Given the description of an element on the screen output the (x, y) to click on. 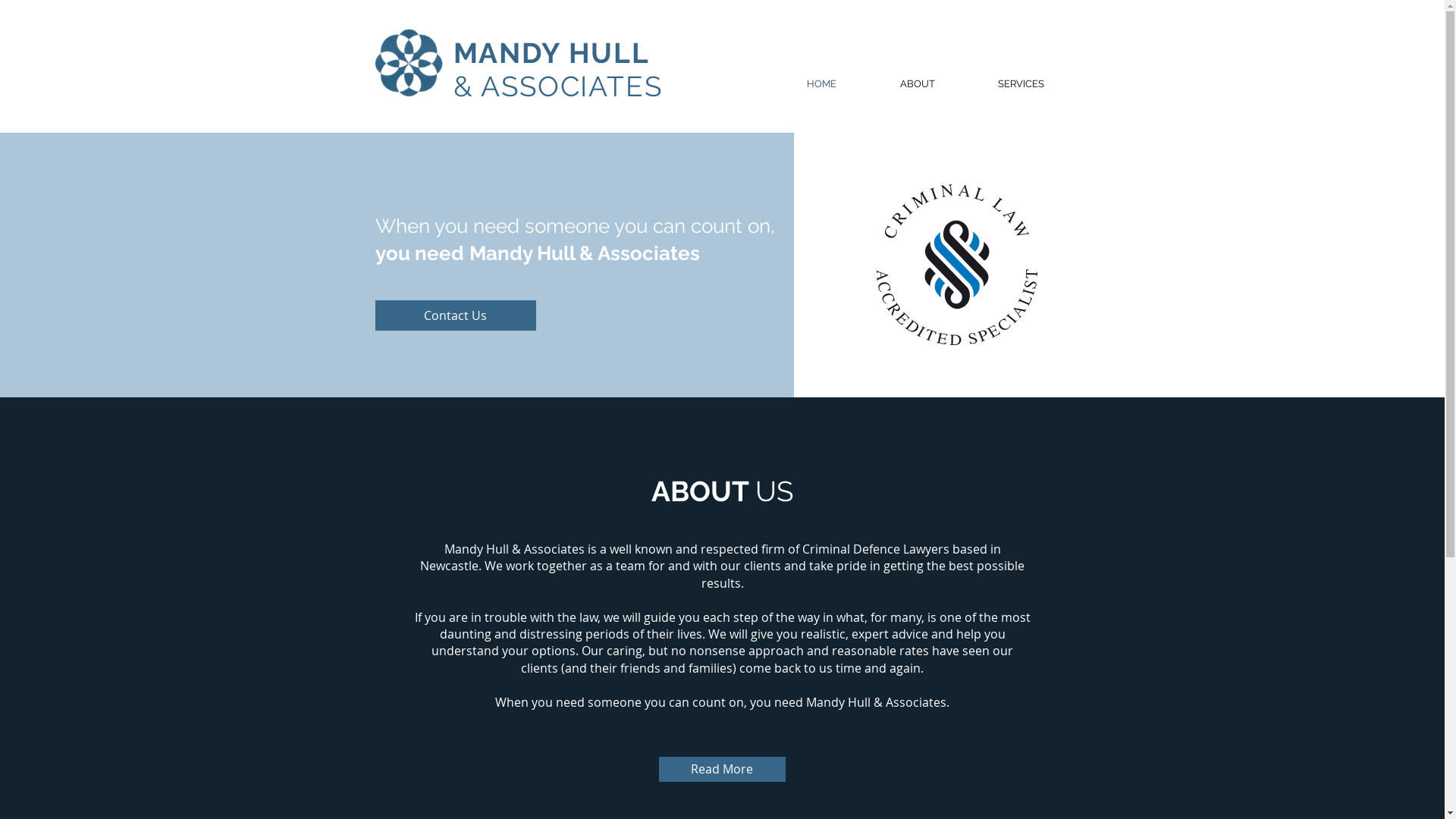
Read More Element type: text (721, 768)
MANDY HULL
& ASSOCIATES Element type: text (557, 69)
Criminal Law Accredited Specialist Element type: hover (956, 264)
SERVICES Element type: text (1020, 84)
Contact Us Element type: text (454, 315)
HOME Element type: text (821, 84)
ABOUT Element type: text (916, 84)
